Given the description of an element on the screen output the (x, y) to click on. 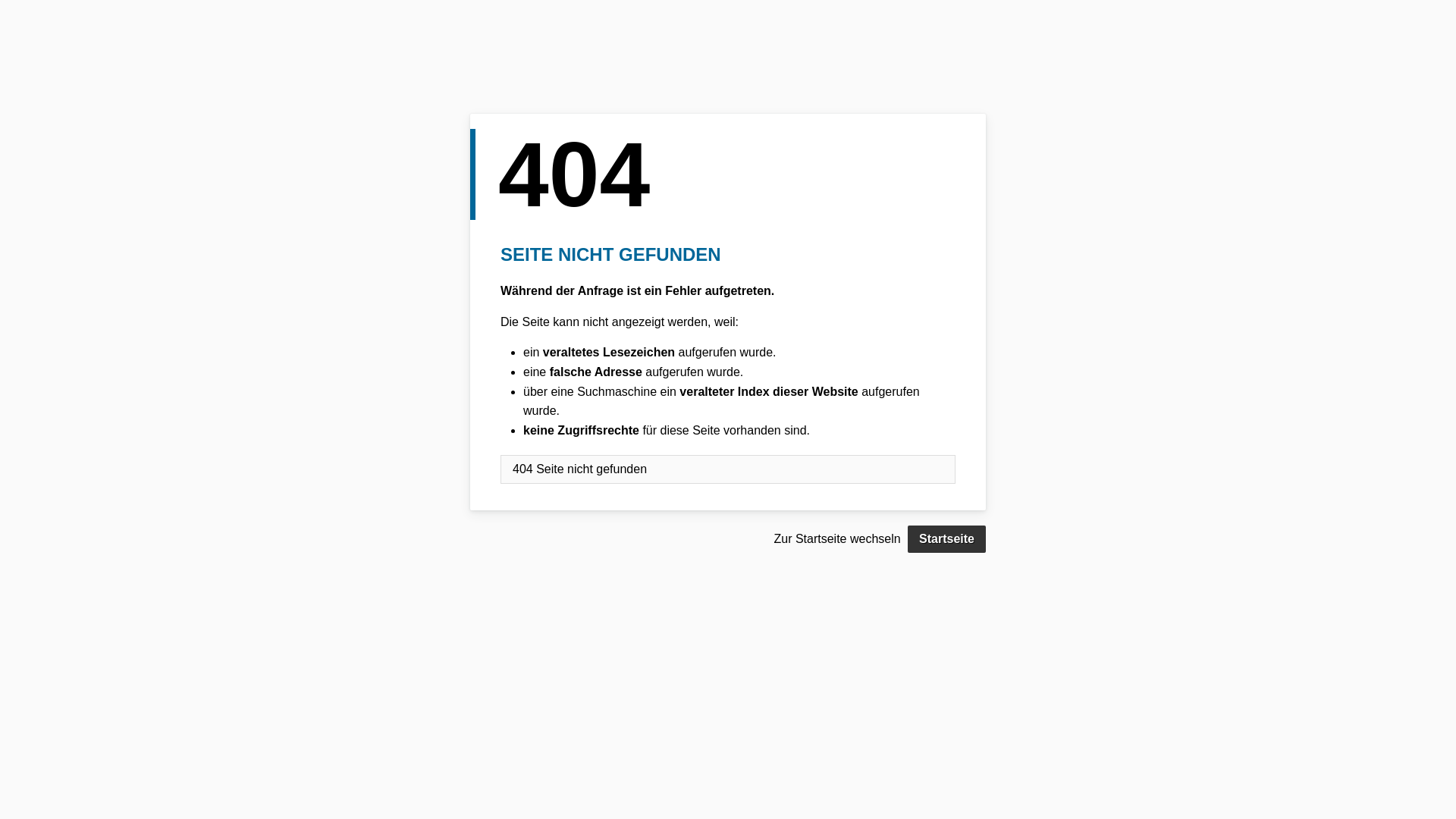
Startseite Element type: text (946, 538)
